Given the description of an element on the screen output the (x, y) to click on. 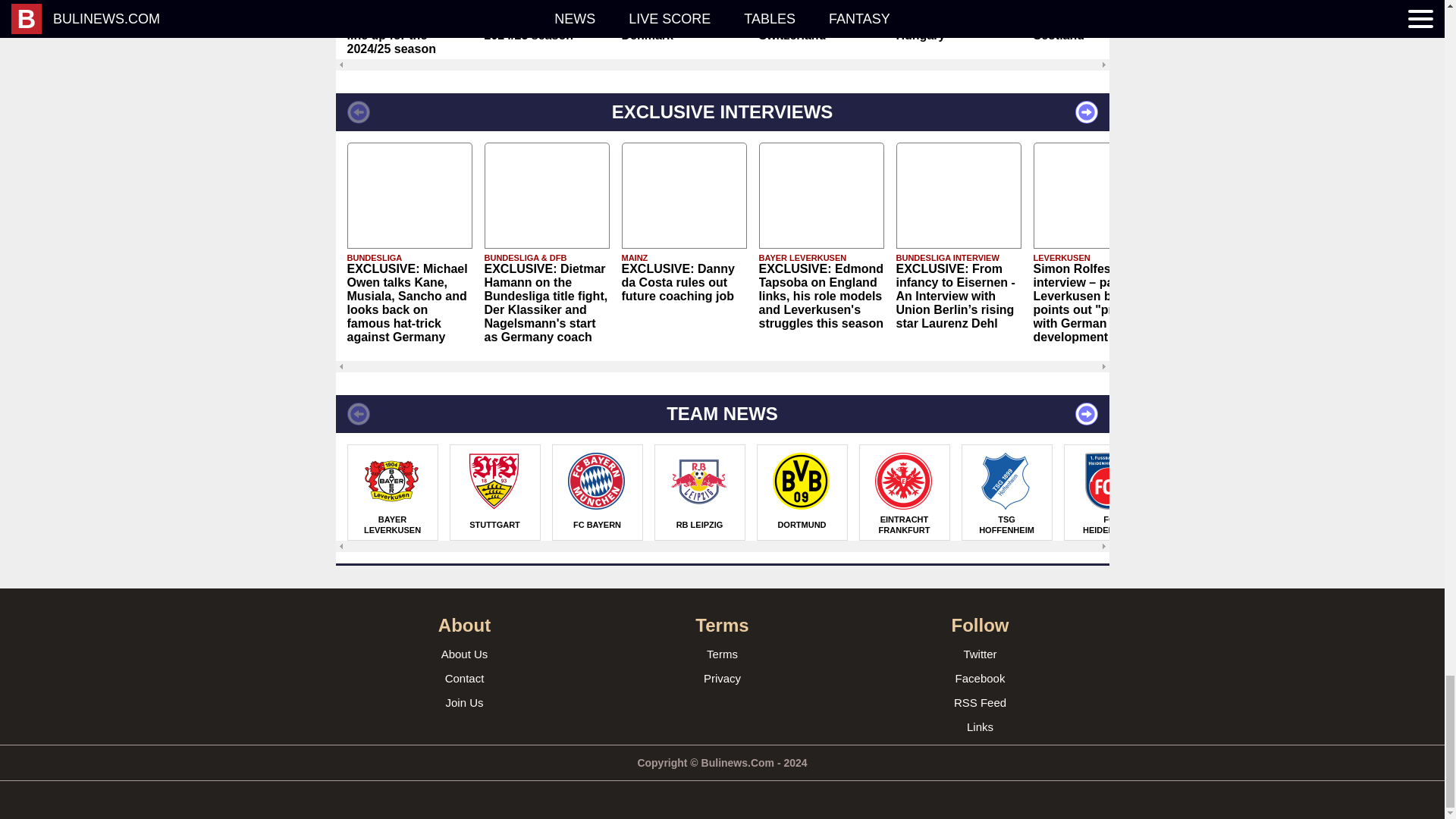
TEAM NEWS (721, 413)
EXCLUSIVE INTERVIEWS (721, 112)
